Given the description of an element on the screen output the (x, y) to click on. 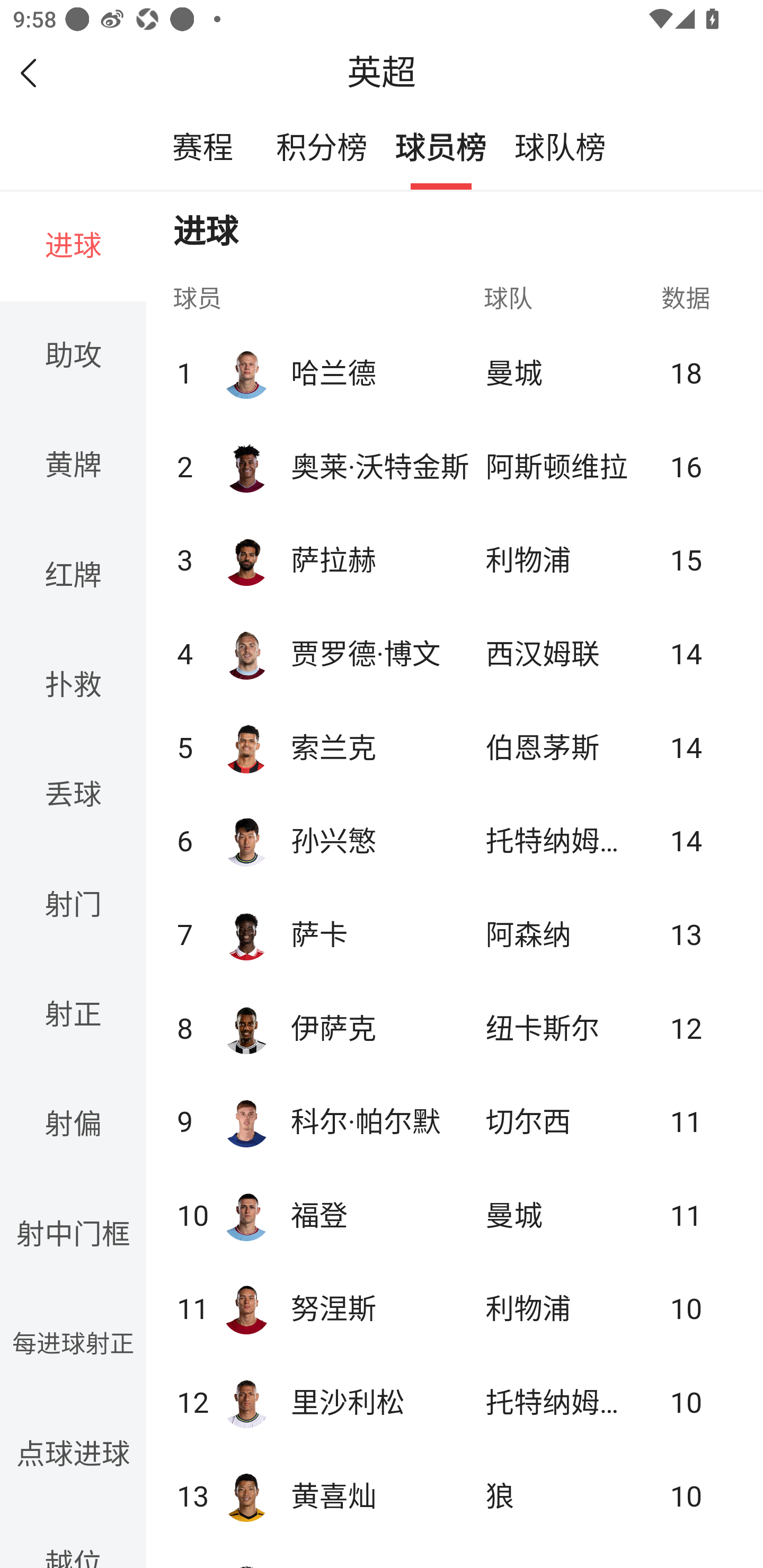
英超 (381, 72)
赛程 (202, 149)
积分榜 (321, 149)
球员榜 (440, 149)
球队榜 (559, 149)
进球 (74, 246)
助攻 (74, 355)
1 哈兰德 曼城 18 (452, 372)
黄牌 (74, 464)
2 奥莱·沃特金斯 阿斯顿维拉 16 (452, 465)
3 萨拉赫 利物浦 15 (452, 558)
红牌 (74, 574)
4 贾罗德·博文 西汉姆联 14 (452, 652)
扑救 (74, 684)
5 索兰克 伯恩茅斯 14 (452, 746)
丢球 (74, 795)
6 孙兴慜 托特纳姆热刺 14 (452, 841)
射门 (74, 905)
7 萨卡 阿森纳 13 (452, 934)
射正 (74, 1014)
8 伊萨克 纽卡斯尔 12 (452, 1027)
射偏 (74, 1124)
9 科尔·帕尔默 切尔西 11 (452, 1120)
10 福登 曼城 11 (452, 1214)
射中门框 (74, 1234)
11 努涅斯 利物浦 10 (452, 1308)
每进球射正 (74, 1344)
12 里沙利松 托特纳姆热刺 10 (452, 1401)
点球进球 (74, 1453)
13 黄喜灿 狼 10 (452, 1494)
越位 (74, 1538)
